Given the description of an element on the screen output the (x, y) to click on. 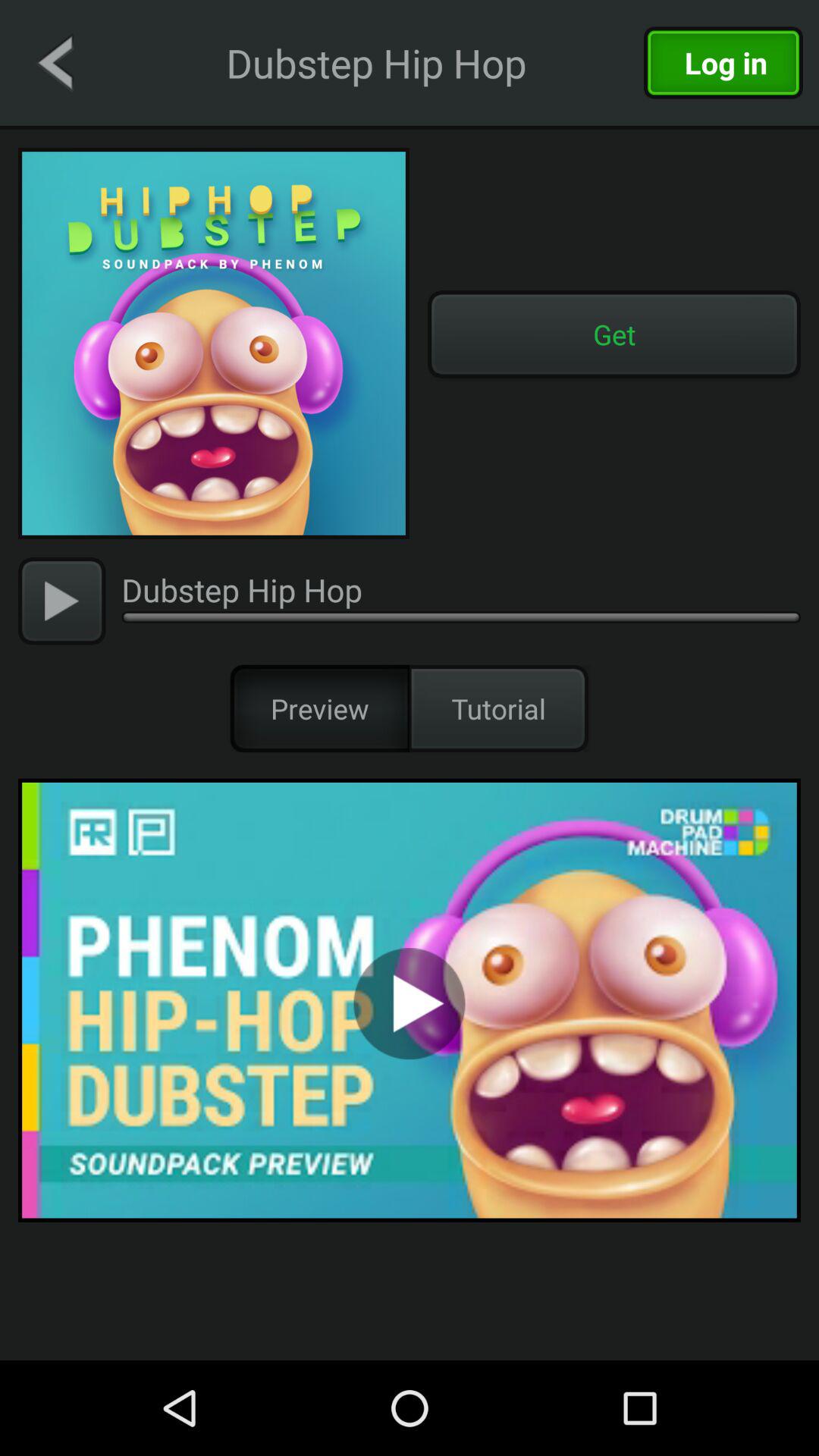
tap icon to the left of the get icon (213, 343)
